Given the description of an element on the screen output the (x, y) to click on. 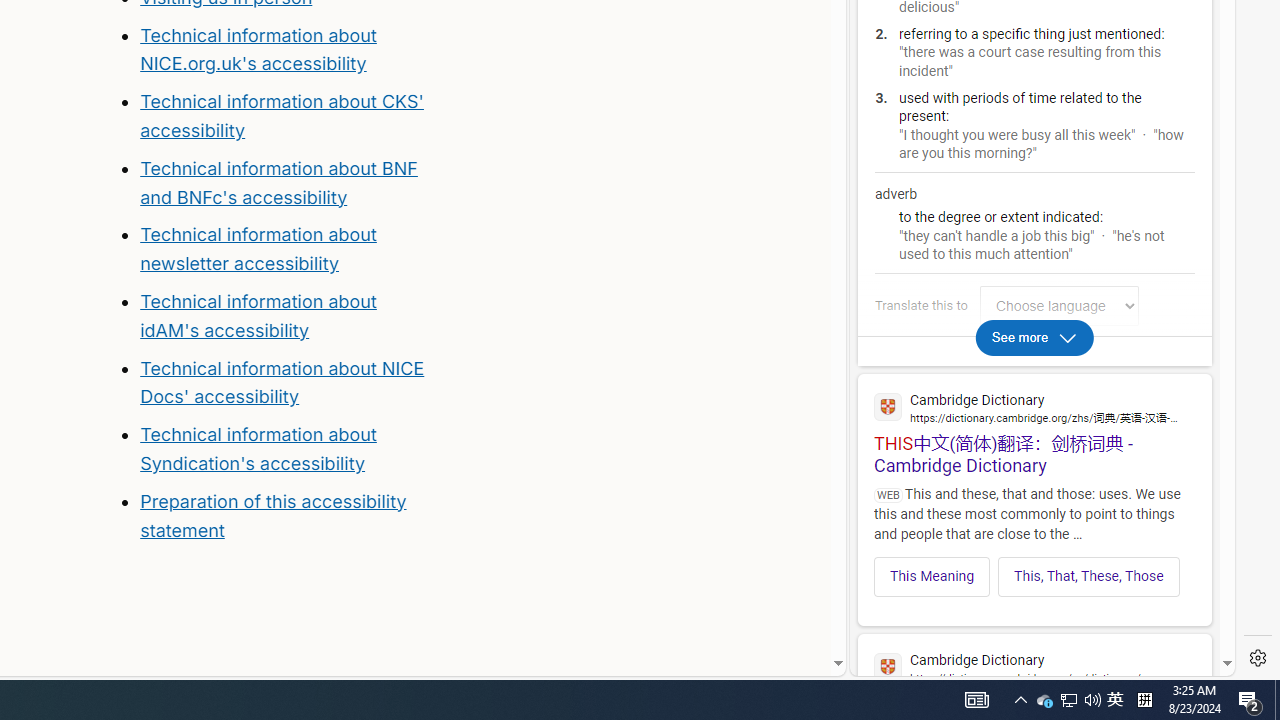
Cambridge Dictionary (1034, 666)
This, That, These, Those (1088, 575)
Link for logging (1064, 305)
This MeaningThis, That, These, Those (1034, 570)
Technical information about Syndication's accessibility (258, 448)
This Meaning (932, 575)
